Given the description of an element on the screen output the (x, y) to click on. 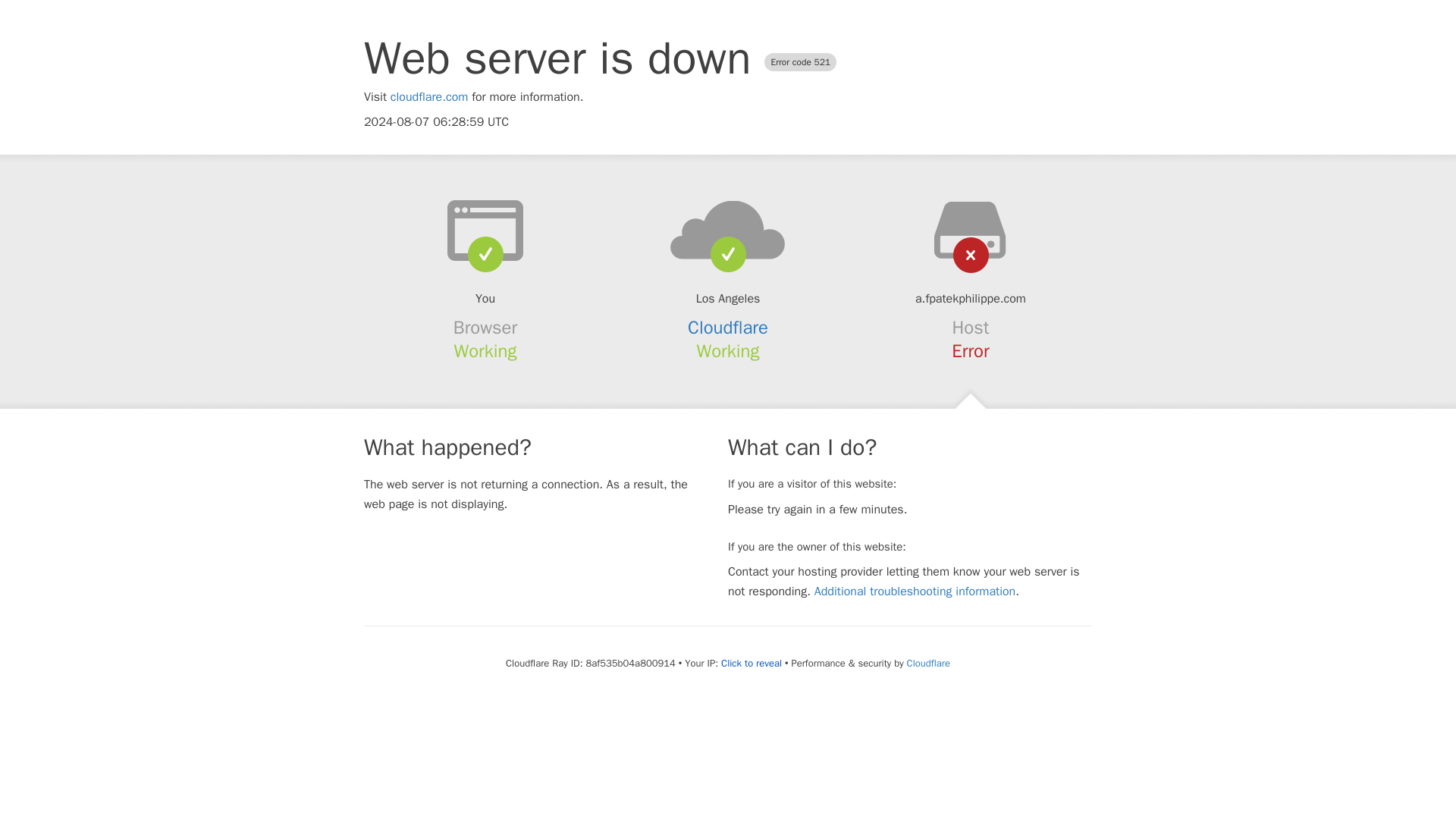
Additional troubleshooting information (913, 590)
Click to reveal (750, 663)
cloudflare.com (429, 96)
Cloudflare (928, 662)
Cloudflare (727, 327)
